Given the description of an element on the screen output the (x, y) to click on. 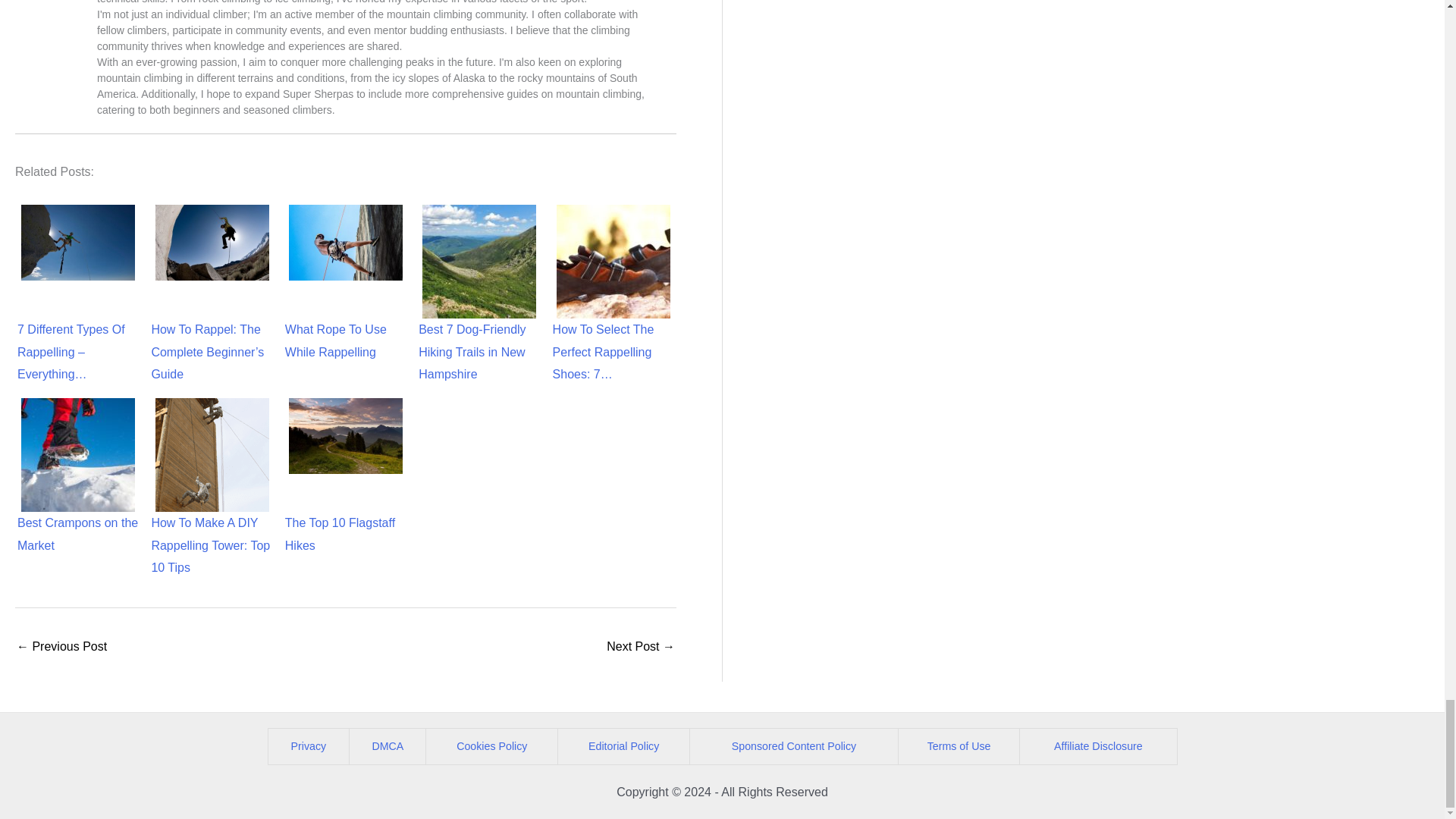
Best Crampons on the Market (78, 454)
What Rope To Use While Rappelling (345, 242)
How To Make A DIY Rappelling Tower: Top 10 Tips (212, 454)
Best 7 Dog-Friendly Hiking Trails in New Hampshire (478, 261)
